Given the description of an element on the screen output the (x, y) to click on. 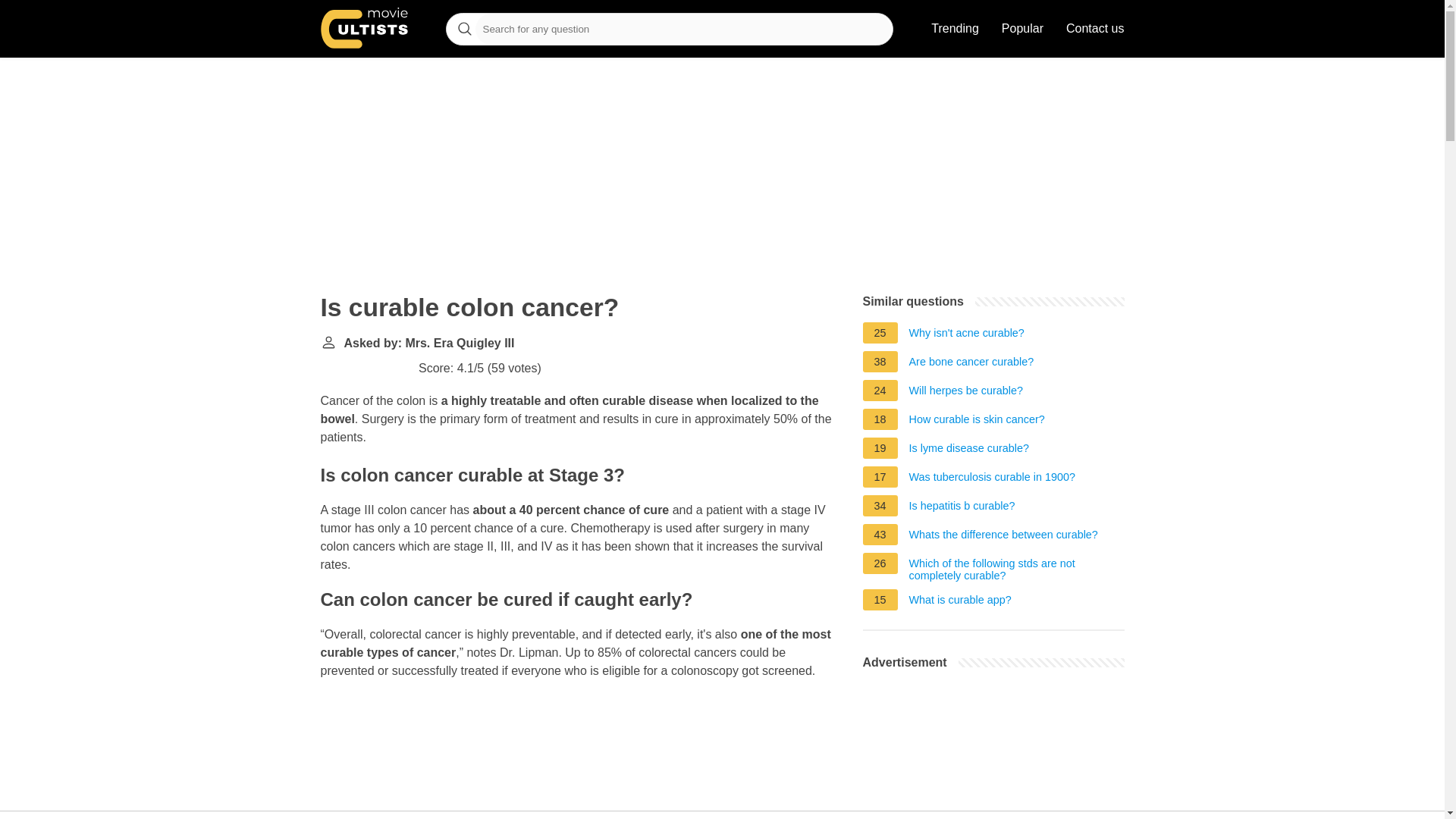
Will herpes be curable? (965, 392)
How curable is skin cancer? (976, 421)
Contact us (1094, 28)
Is hepatitis b curable? (961, 507)
Are bone cancer curable? (970, 363)
Popular (1022, 28)
Was tuberculosis curable in 1900? (991, 478)
Which of the following stds are not completely curable? (1016, 569)
Whats the difference between curable? (1002, 536)
Trending (954, 28)
